Given the description of an element on the screen output the (x, y) to click on. 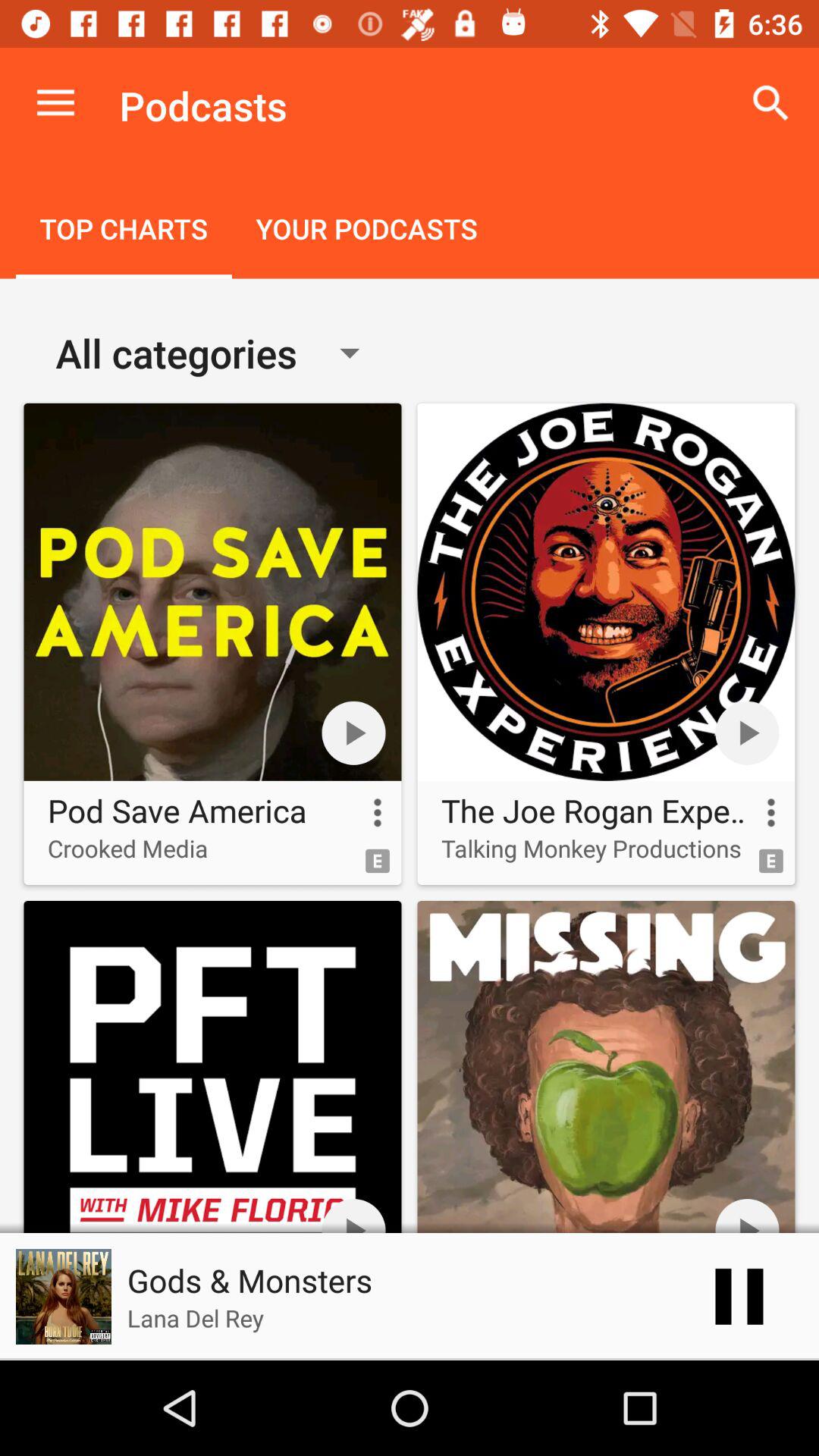
launch item above all categories (366, 230)
